Given the description of an element on the screen output the (x, y) to click on. 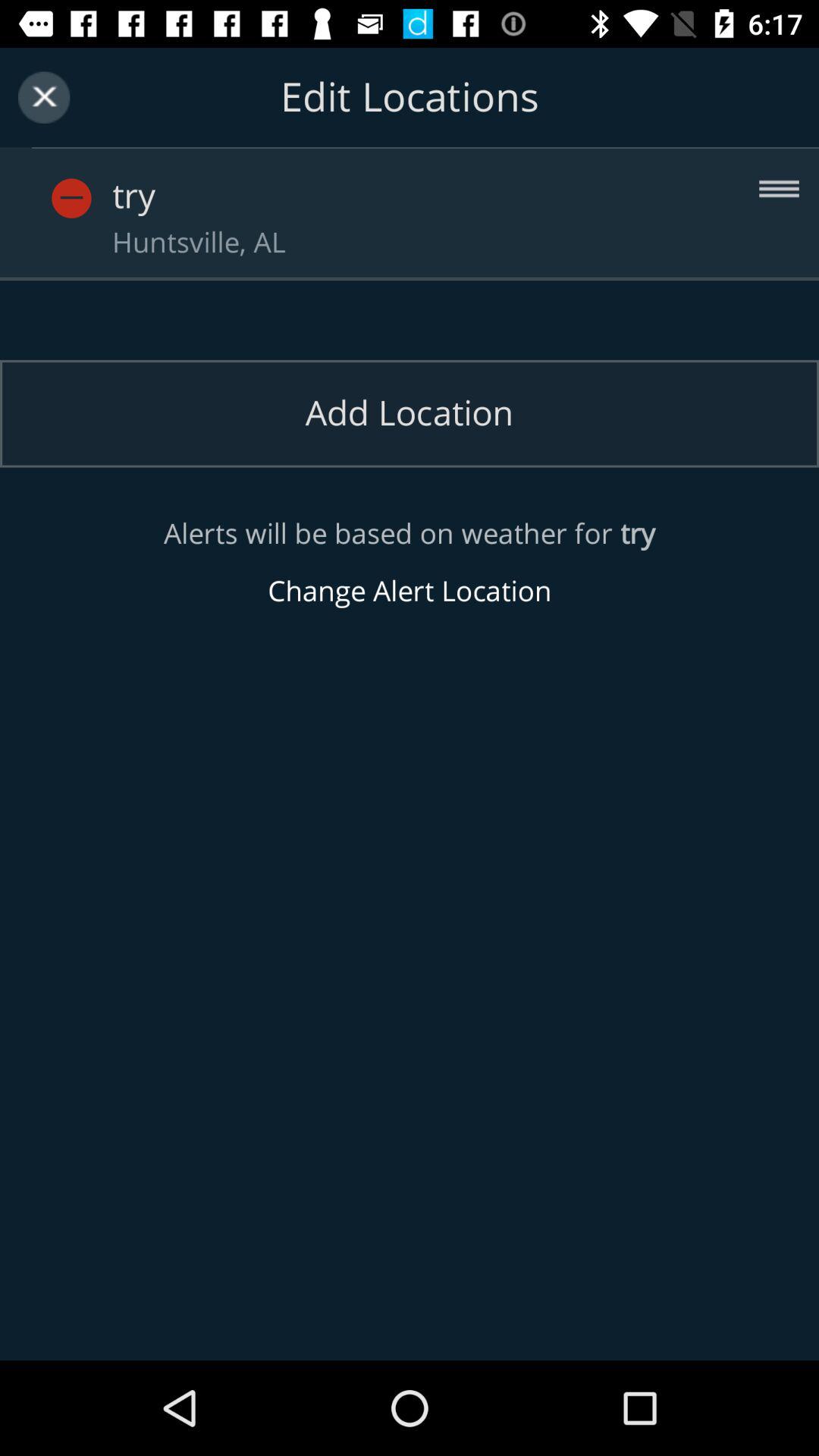
open the item below the add location item (409, 562)
